Given the description of an element on the screen output the (x, y) to click on. 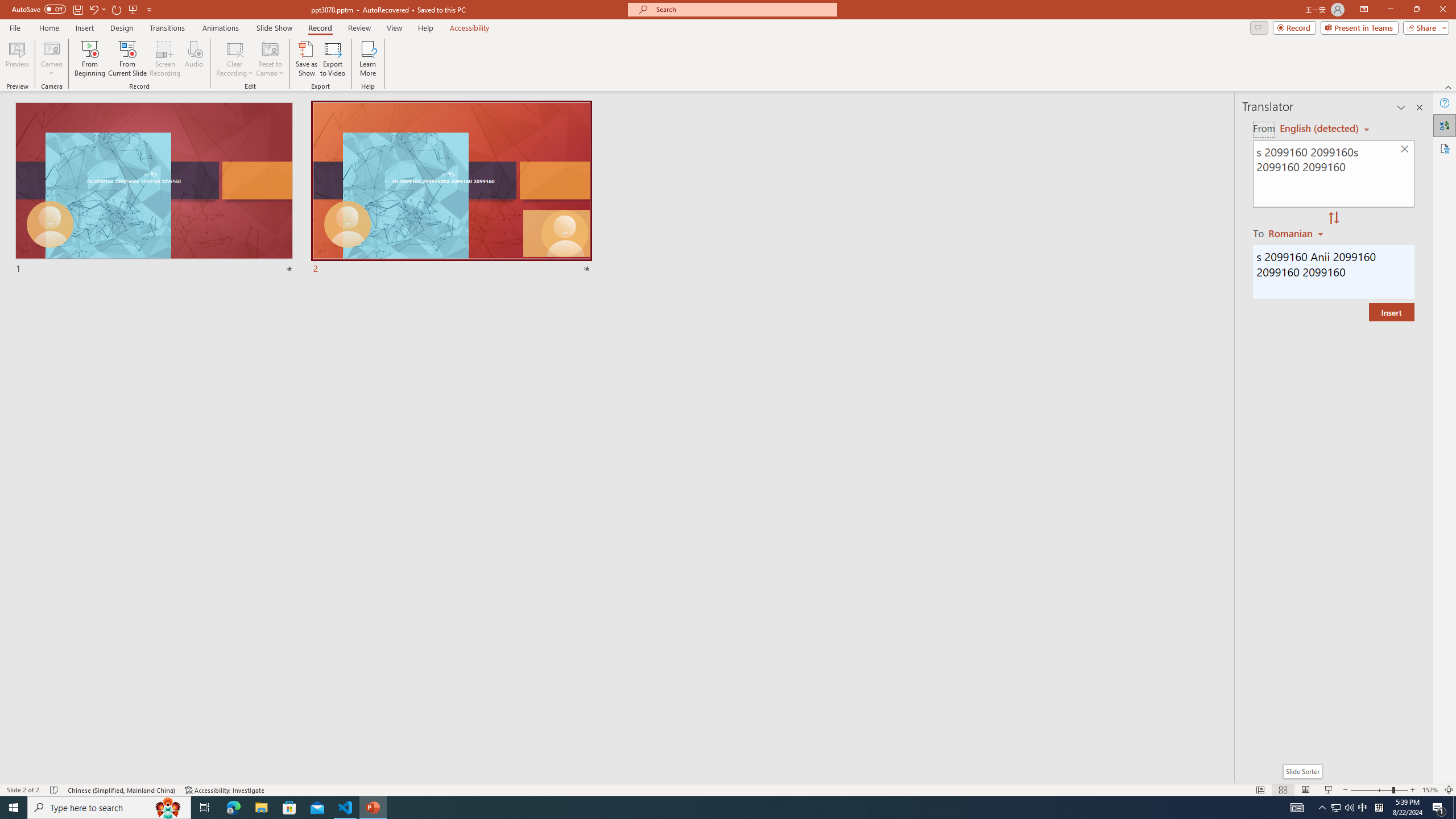
Czech (detected) (1319, 128)
Learn More (368, 58)
Romanian (1296, 232)
Clear Recording (234, 58)
